Given the description of an element on the screen output the (x, y) to click on. 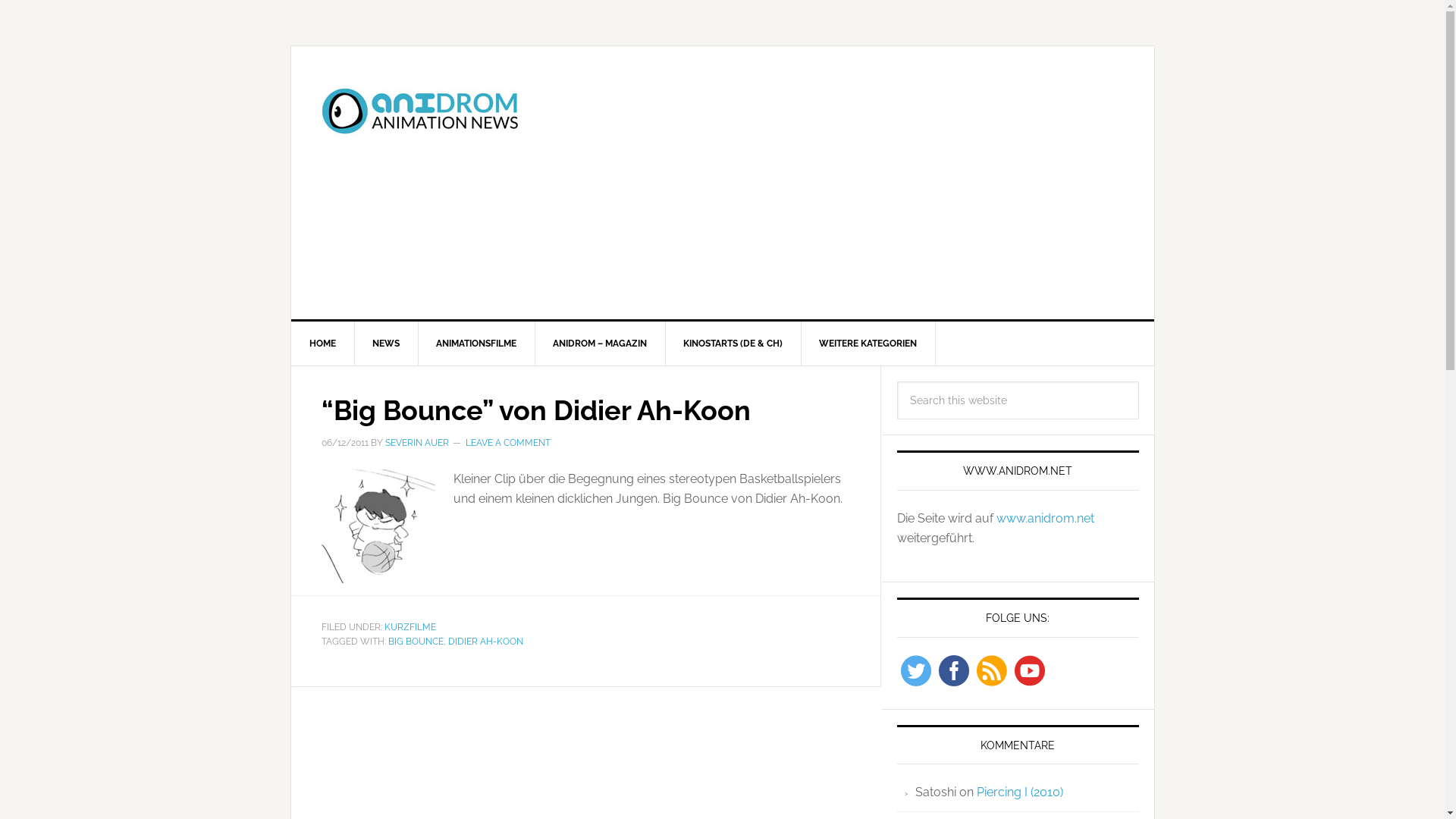
WEITERE KATEGORIEN Element type: text (867, 343)
BIG BOUNCE Element type: text (415, 641)
NEWS Element type: text (385, 343)
KURZFILME Element type: text (409, 626)
Piercing I (2010) Element type: text (1019, 791)
DIDIER AH-KOON Element type: text (484, 641)
KINOSTARTS (DE & CH) Element type: text (732, 343)
Advertisement Element type: hover (835, 182)
www.anidrom.net Element type: text (1045, 518)
LEAVE A COMMENT Element type: text (507, 442)
SEVERIN AUER Element type: text (416, 442)
HOME Element type: text (322, 343)
ANIMATIONSFILME Element type: text (475, 343)
Search Element type: text (1137, 380)
ANIMATIONSFILME.CH Element type: text (419, 110)
